Given the description of an element on the screen output the (x, y) to click on. 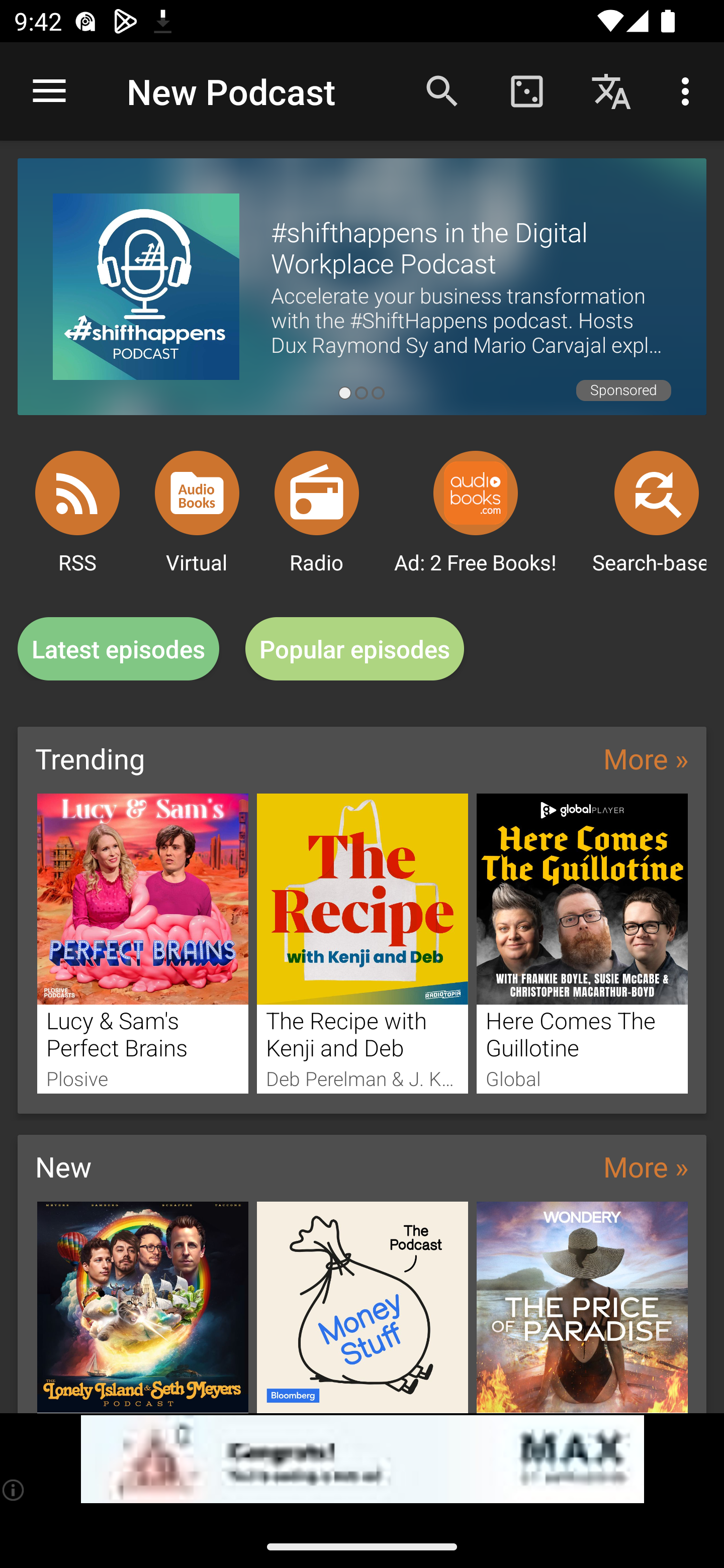
Open navigation sidebar (49, 91)
Search (442, 90)
Random pick (526, 90)
Podcast languages (611, 90)
More options (688, 90)
RSS (77, 492)
Virtual (196, 492)
Radio (316, 492)
Search-based (656, 492)
Latest episodes (118, 648)
Popular episodes (354, 648)
More » (645, 757)
Lucy & Sam's Perfect Brains Plosive (142, 942)
Here Comes The Guillotine Global (581, 942)
More » (645, 1166)
The Lonely Island and Seth Meyers Podcast (142, 1306)
Money Stuff: The Podcast (362, 1306)
The Price of Paradise (581, 1306)
app-monetization (362, 1459)
(i) (14, 1489)
